Given the description of an element on the screen output the (x, y) to click on. 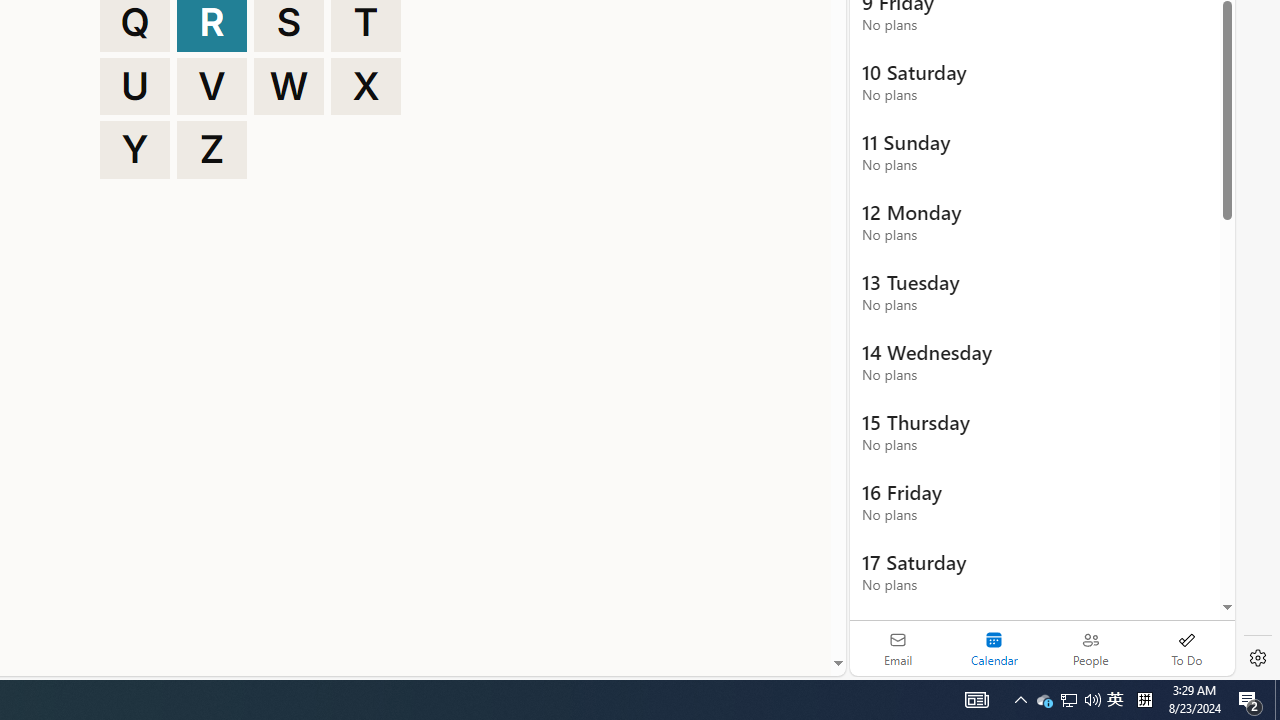
W (289, 85)
W (289, 85)
Y (134, 149)
X (365, 85)
V (212, 85)
V (212, 85)
Selected calendar module. Date today is 22 (994, 648)
